Given the description of an element on the screen output the (x, y) to click on. 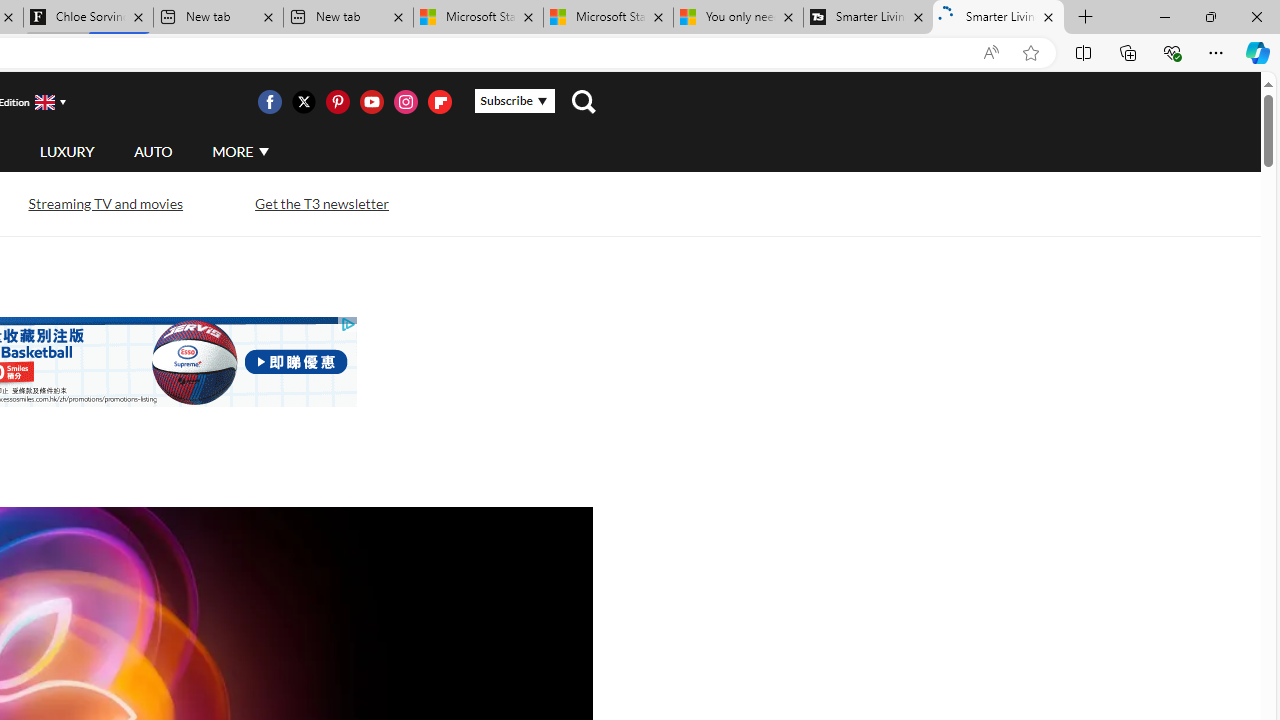
flag of UK (44, 102)
Streaming TV and movies (104, 204)
LUXURY (66, 151)
Subscribe (514, 101)
Smarter Living | T3 (998, 17)
Get the T3 newsletter (321, 202)
Visit us on Facebook (269, 101)
Visit us on Twitter (303, 101)
